Given the description of an element on the screen output the (x, y) to click on. 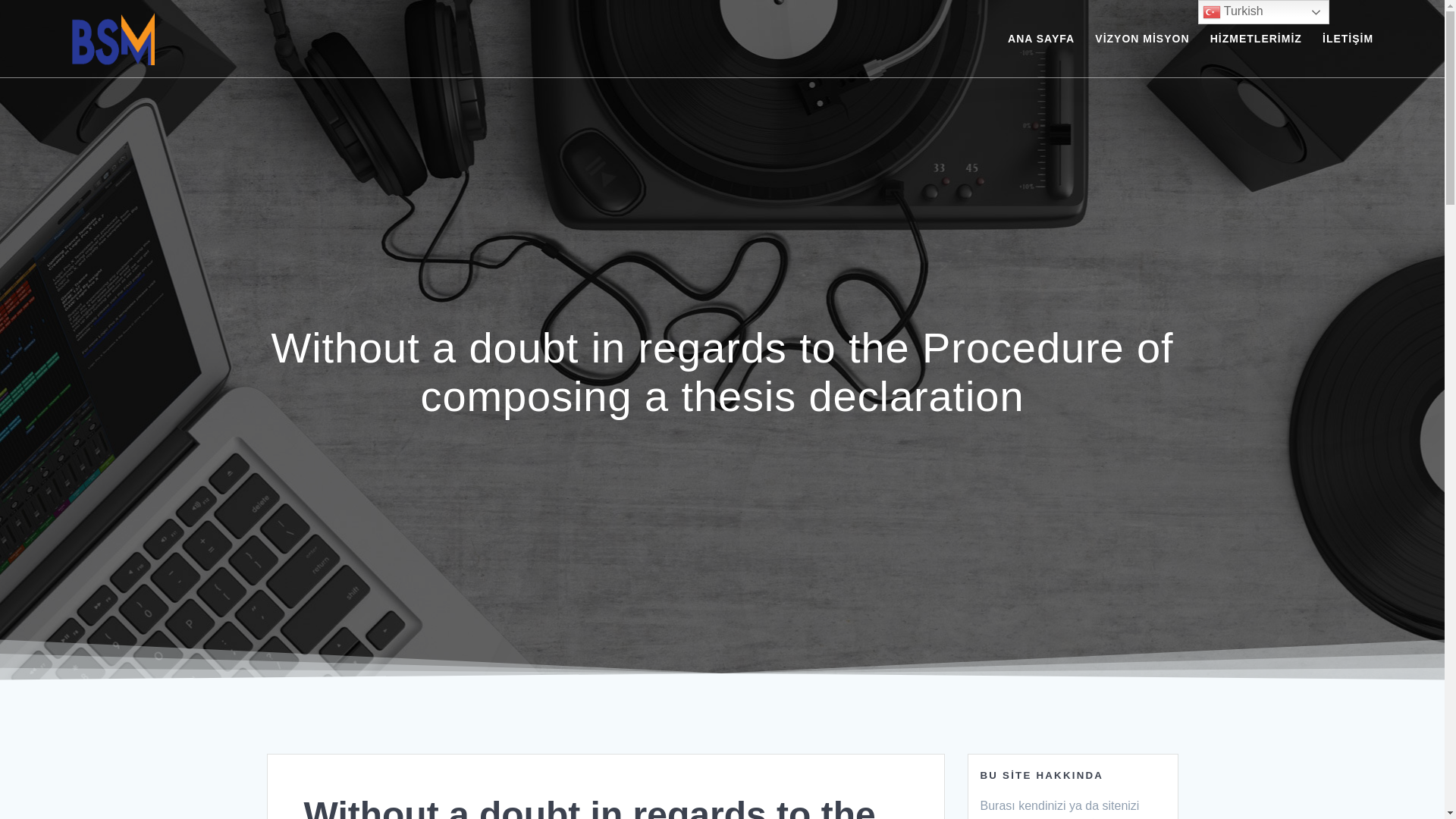
HIZMETLERIMIZ (1255, 38)
VIZYON MISYON (1141, 38)
ANA SAYFA (1040, 38)
